Given the description of an element on the screen output the (x, y) to click on. 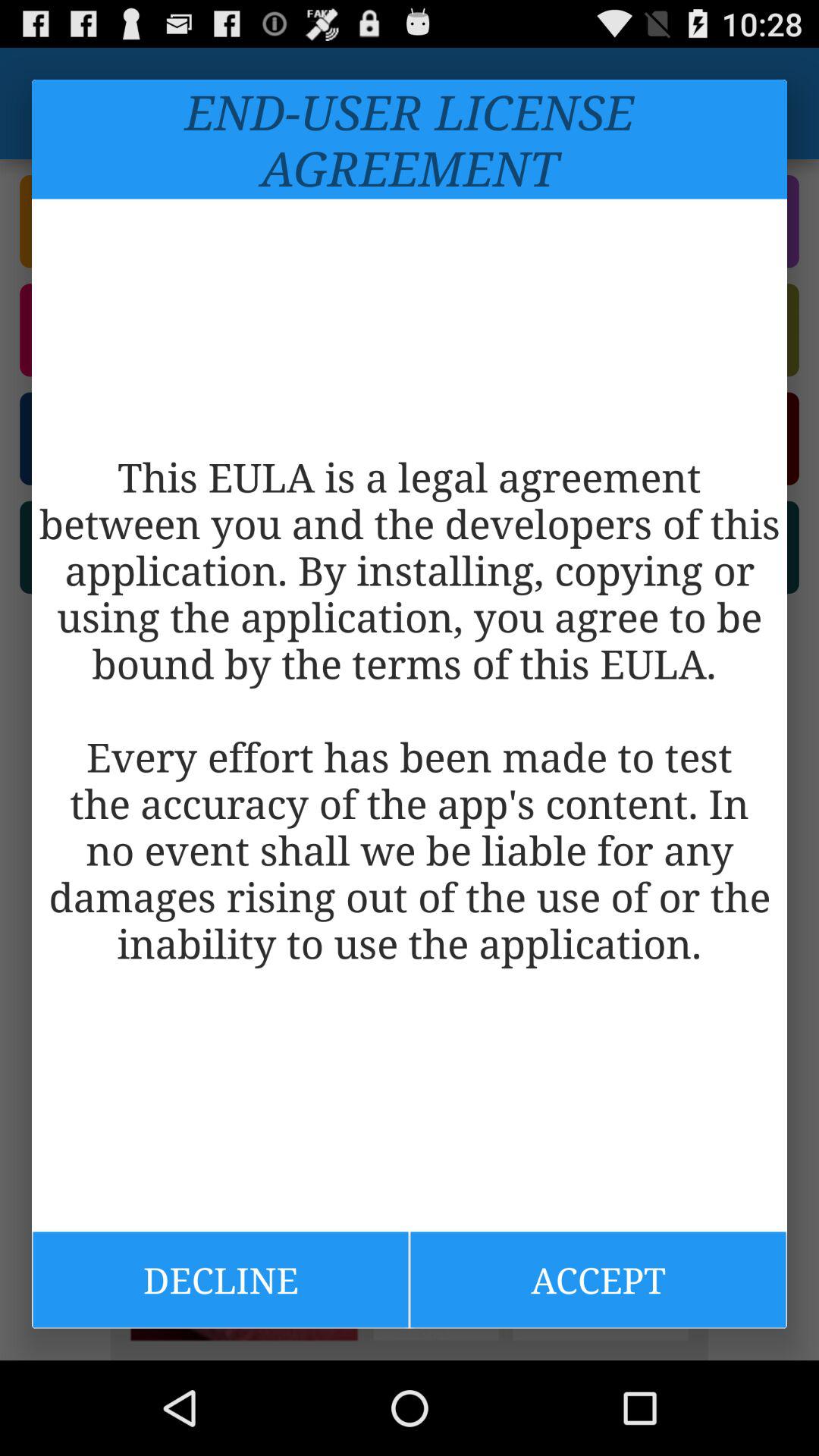
click the item above this eula is item (409, 139)
